Given the description of an element on the screen output the (x, y) to click on. 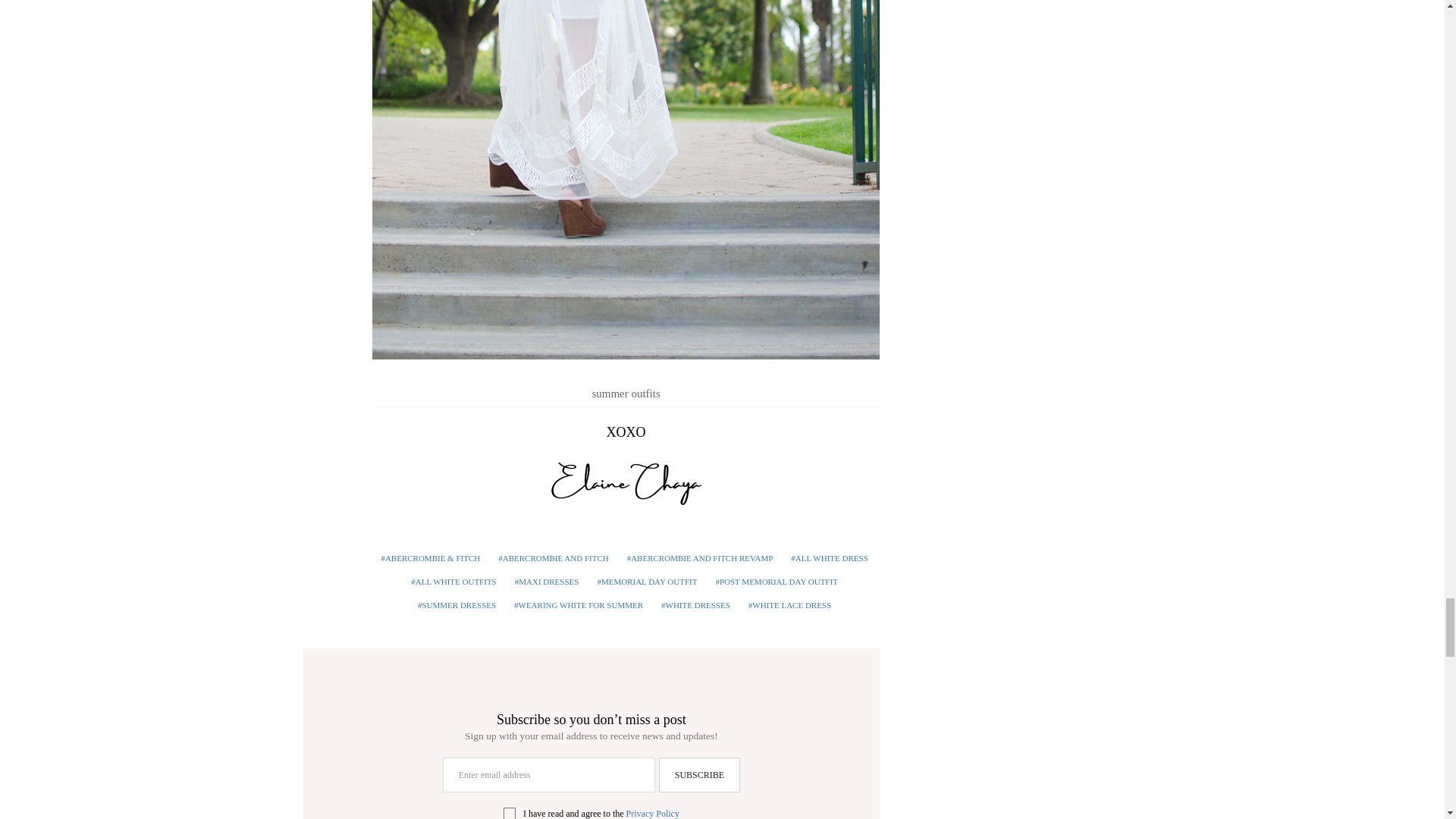
Subscribe (699, 774)
signature (625, 483)
